Given the description of an element on the screen output the (x, y) to click on. 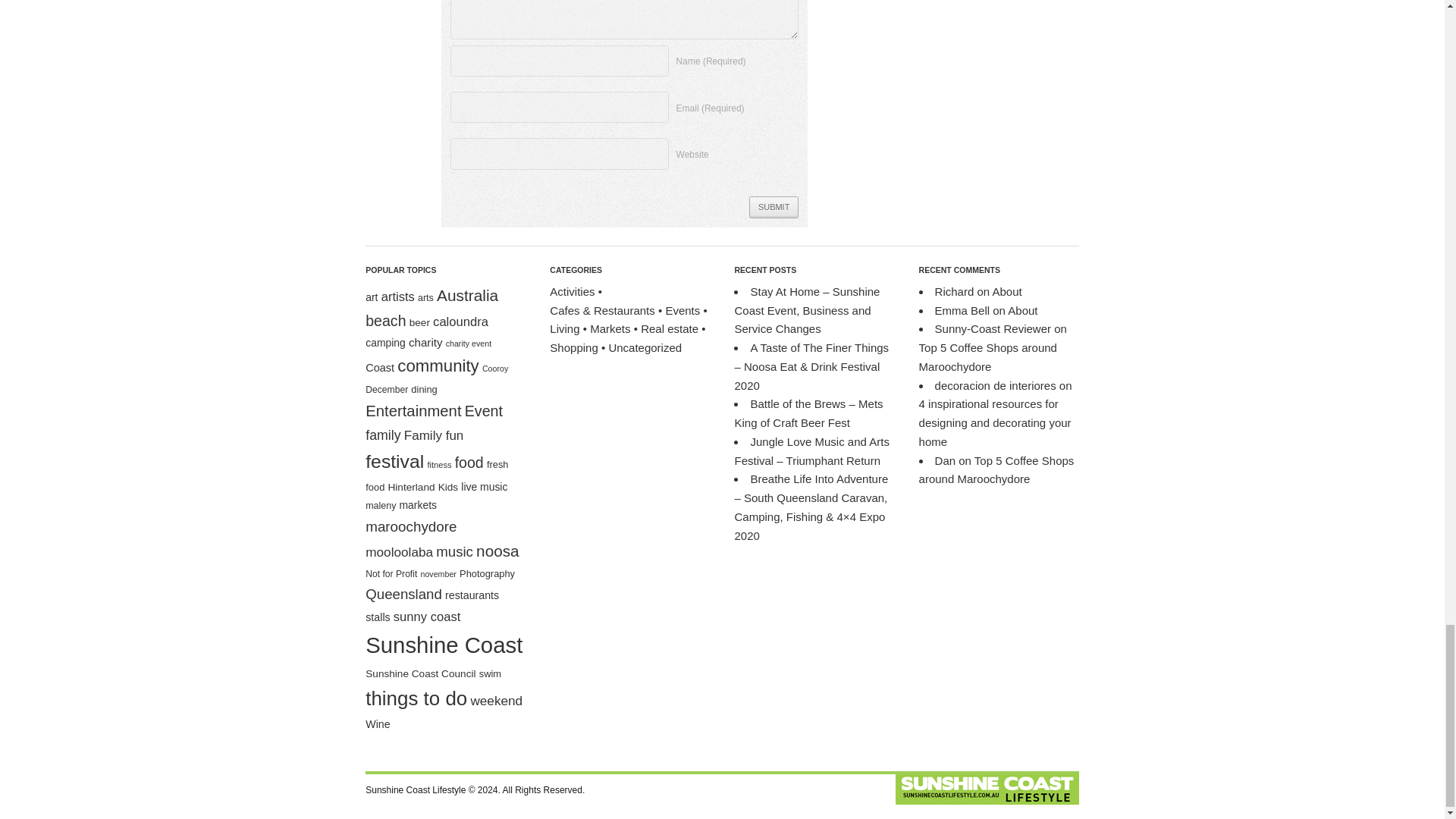
Submit (773, 207)
